Given the description of an element on the screen output the (x, y) to click on. 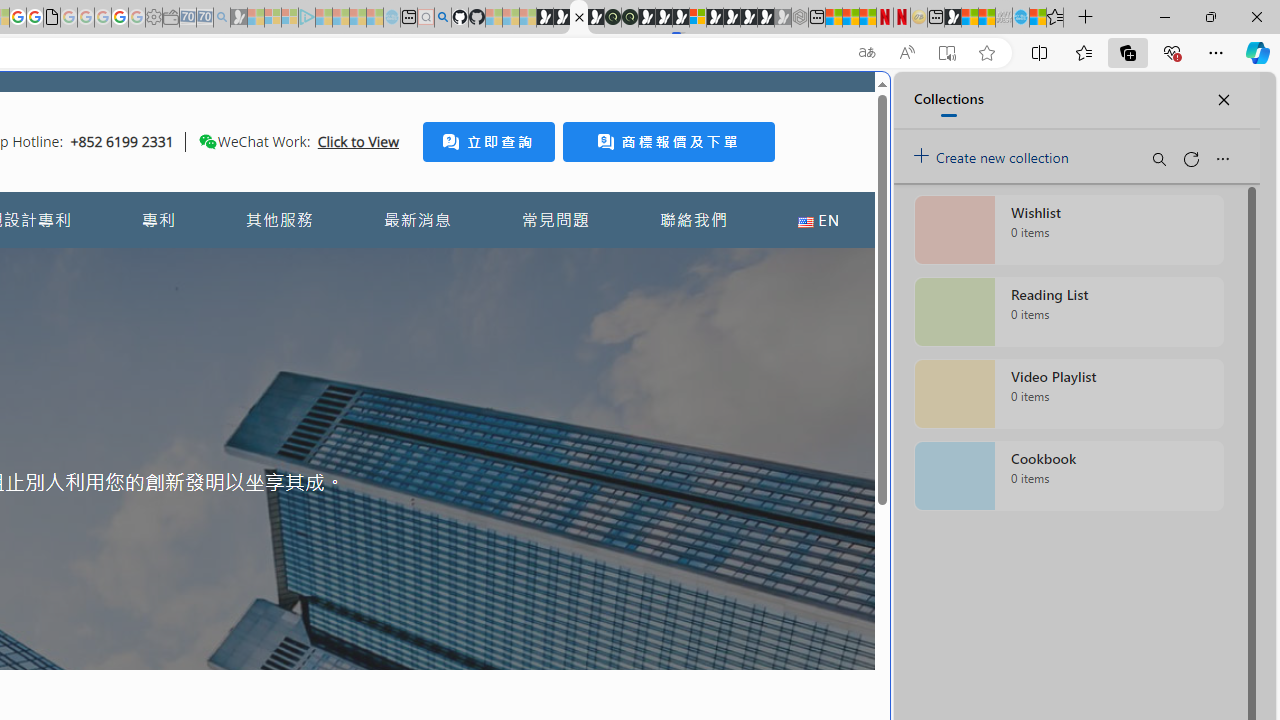
github - Search (442, 17)
